Given the description of an element on the screen output the (x, y) to click on. 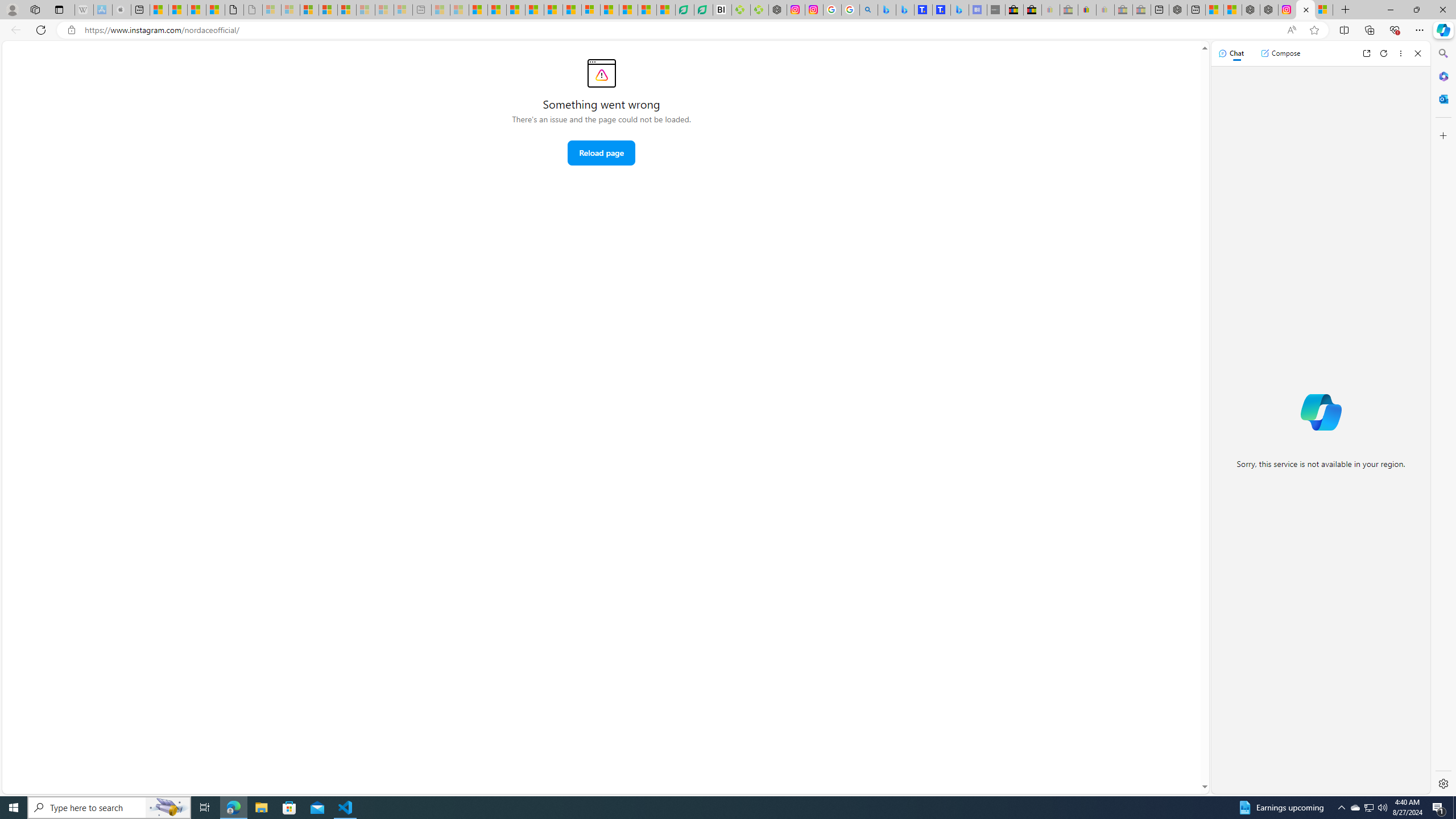
Compose (1280, 52)
LendingTree - Compare Lenders (702, 9)
Descarga Driver Updater (759, 9)
Error (600, 72)
Shangri-La Bangkok, Hotel reviews and Room rates (941, 9)
Safety in Our Products - Google Safety Center (831, 9)
Yard, Garden & Outdoor Living - Sleeping (1142, 9)
